Given the description of an element on the screen output the (x, y) to click on. 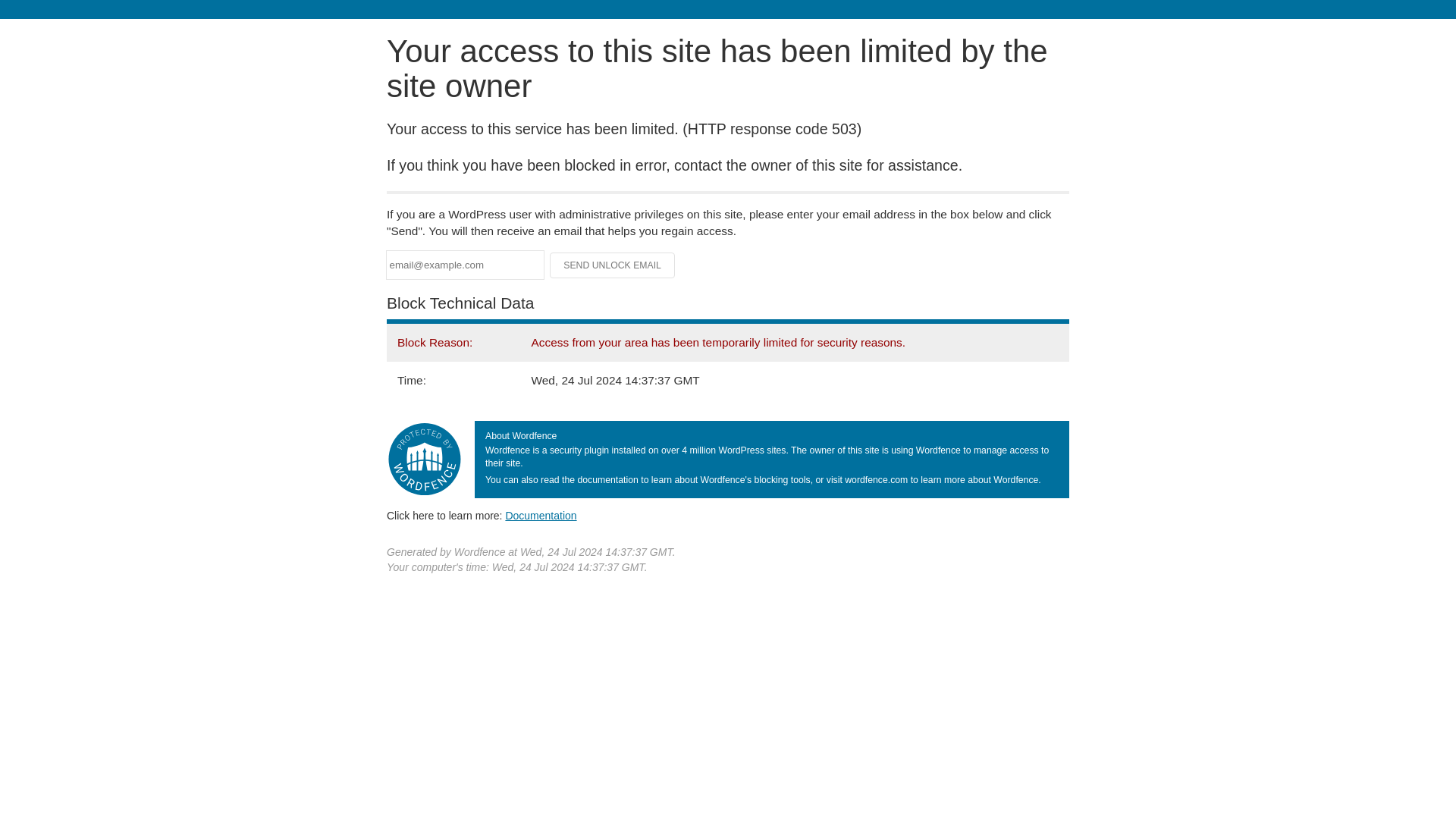
Send Unlock Email (612, 265)
Send Unlock Email (612, 265)
Documentation (540, 515)
